Given the description of an element on the screen output the (x, y) to click on. 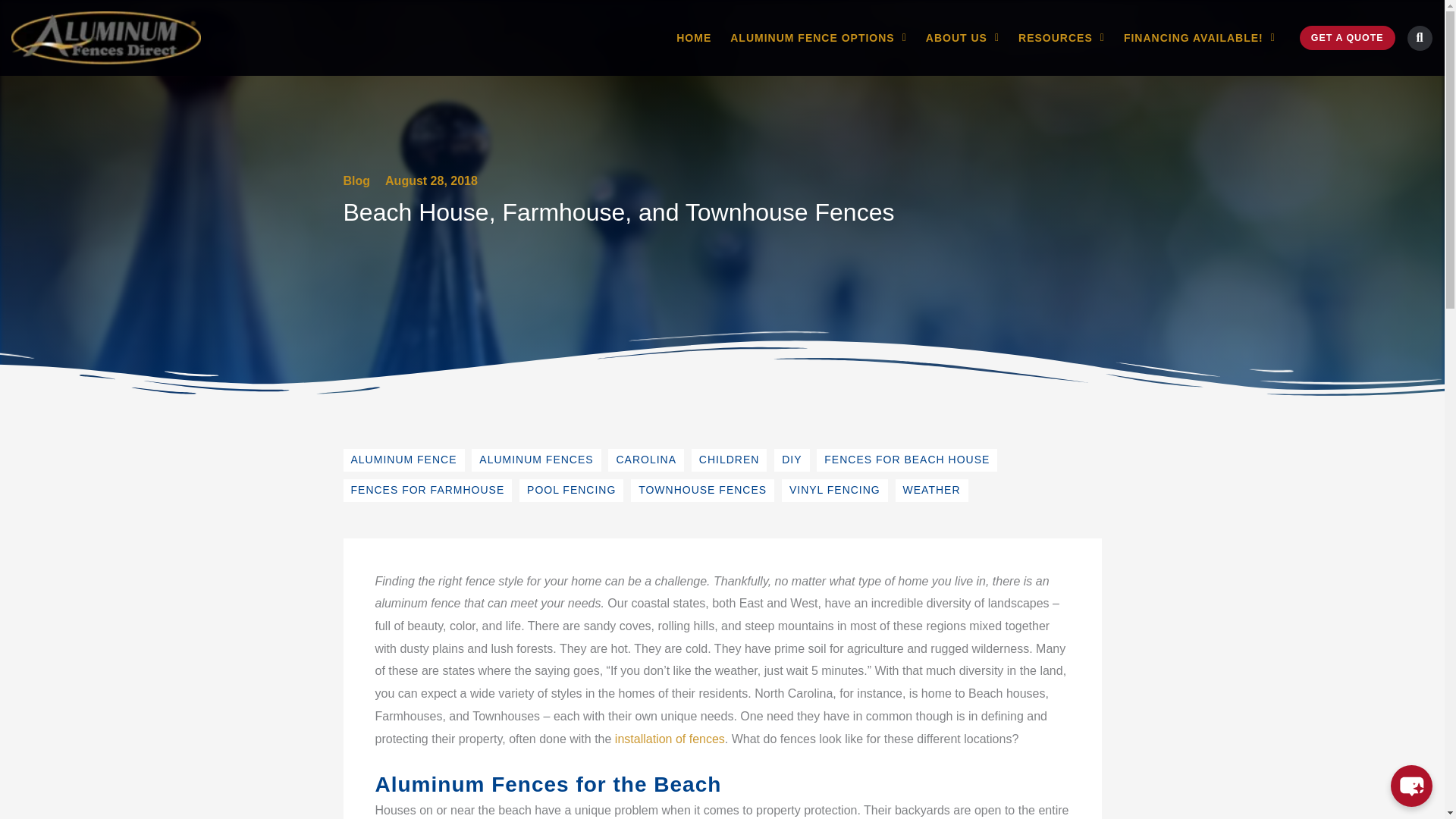
ABOUT US (962, 37)
ALUMINUM FENCE OPTIONS (818, 37)
RESOURCES (1061, 37)
HOME (694, 37)
